Given the description of an element on the screen output the (x, y) to click on. 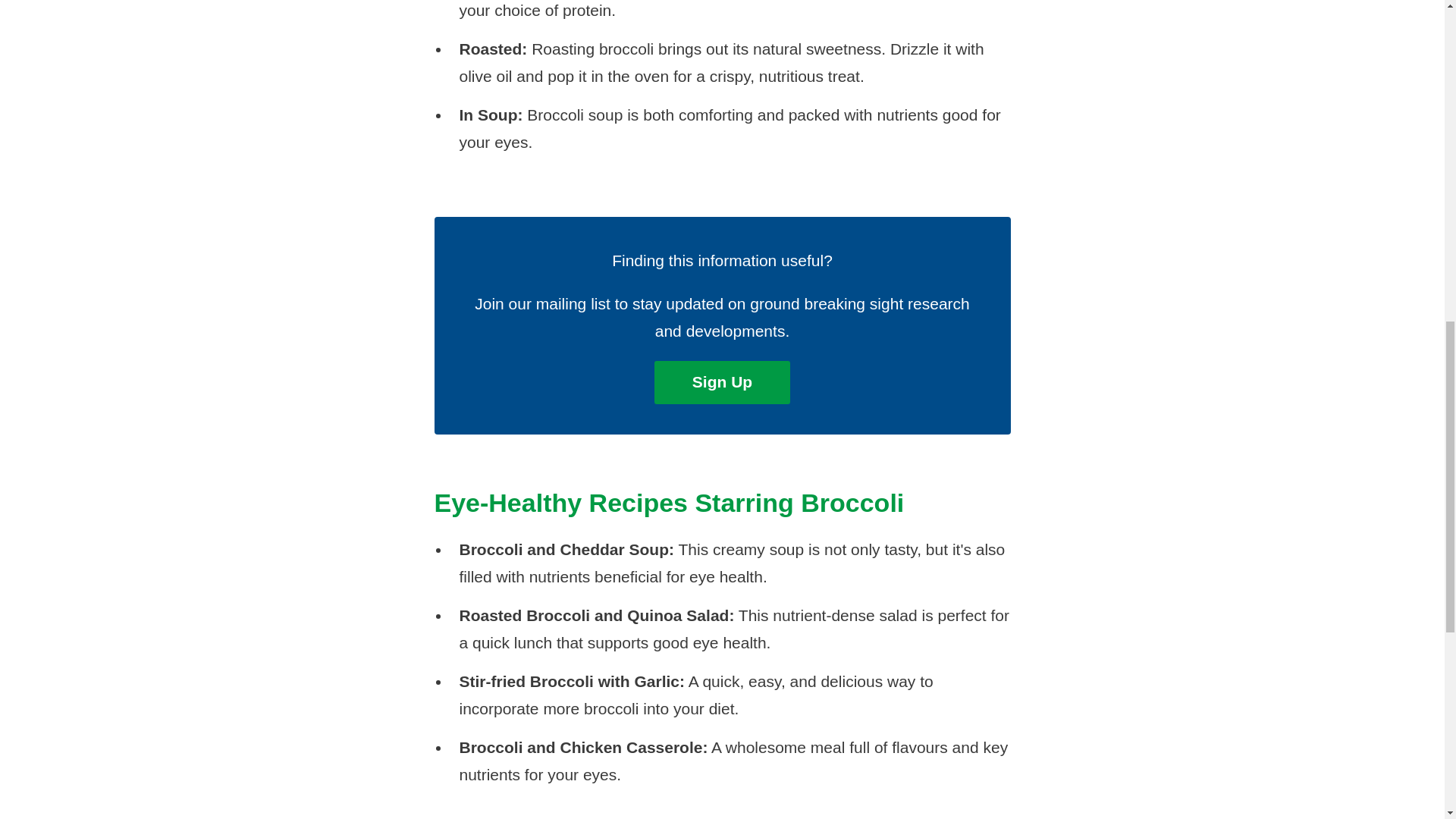
Sign up (721, 382)
